Given the description of an element on the screen output the (x, y) to click on. 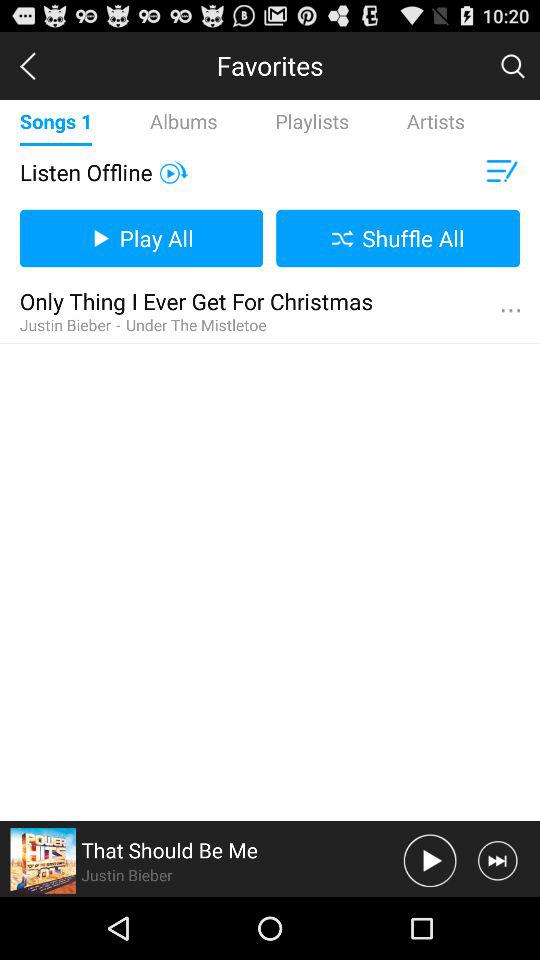
search (512, 65)
